Given the description of an element on the screen output the (x, y) to click on. 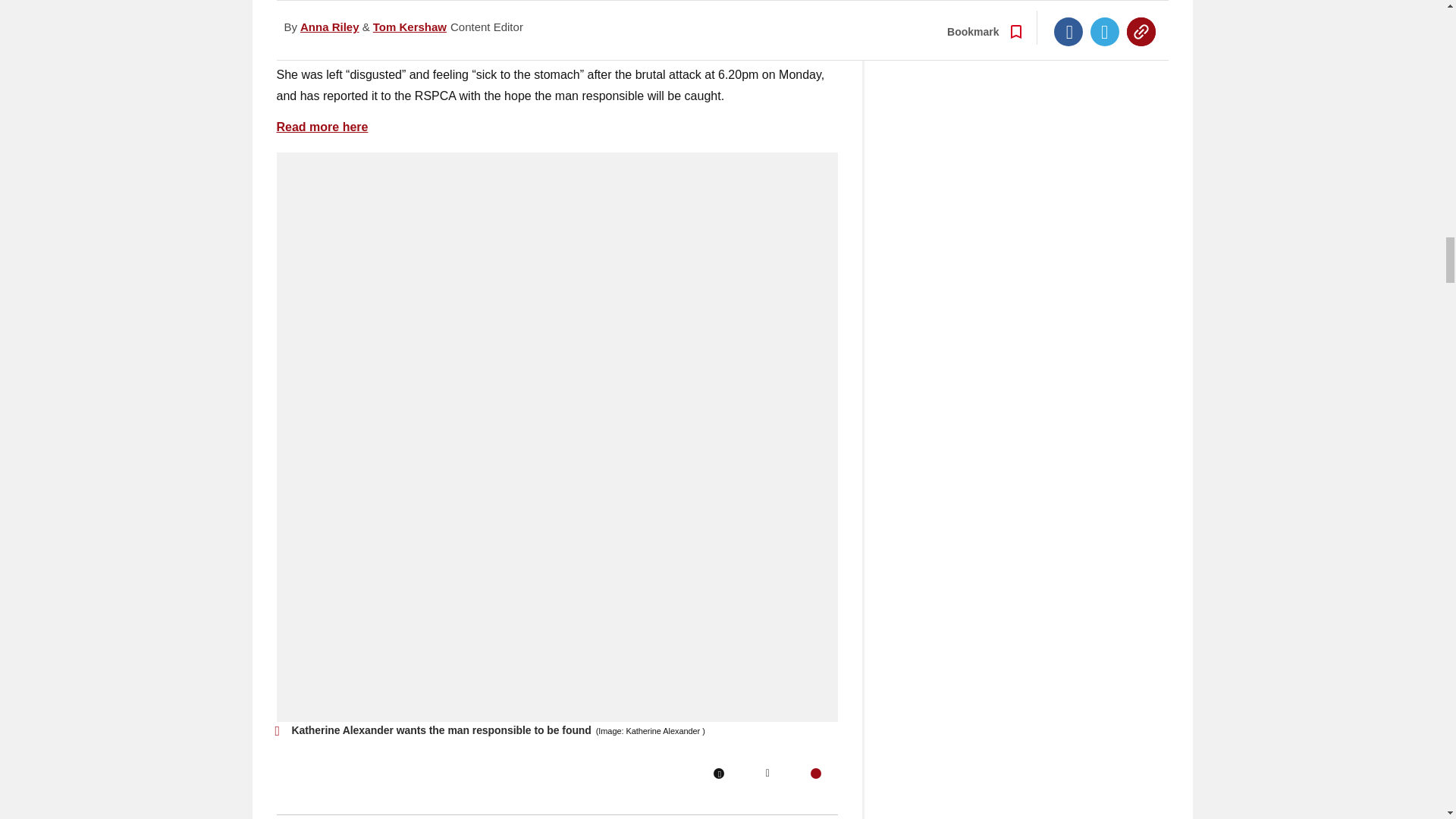
Twitter (767, 773)
Facebook (718, 773)
